Given the description of an element on the screen output the (x, y) to click on. 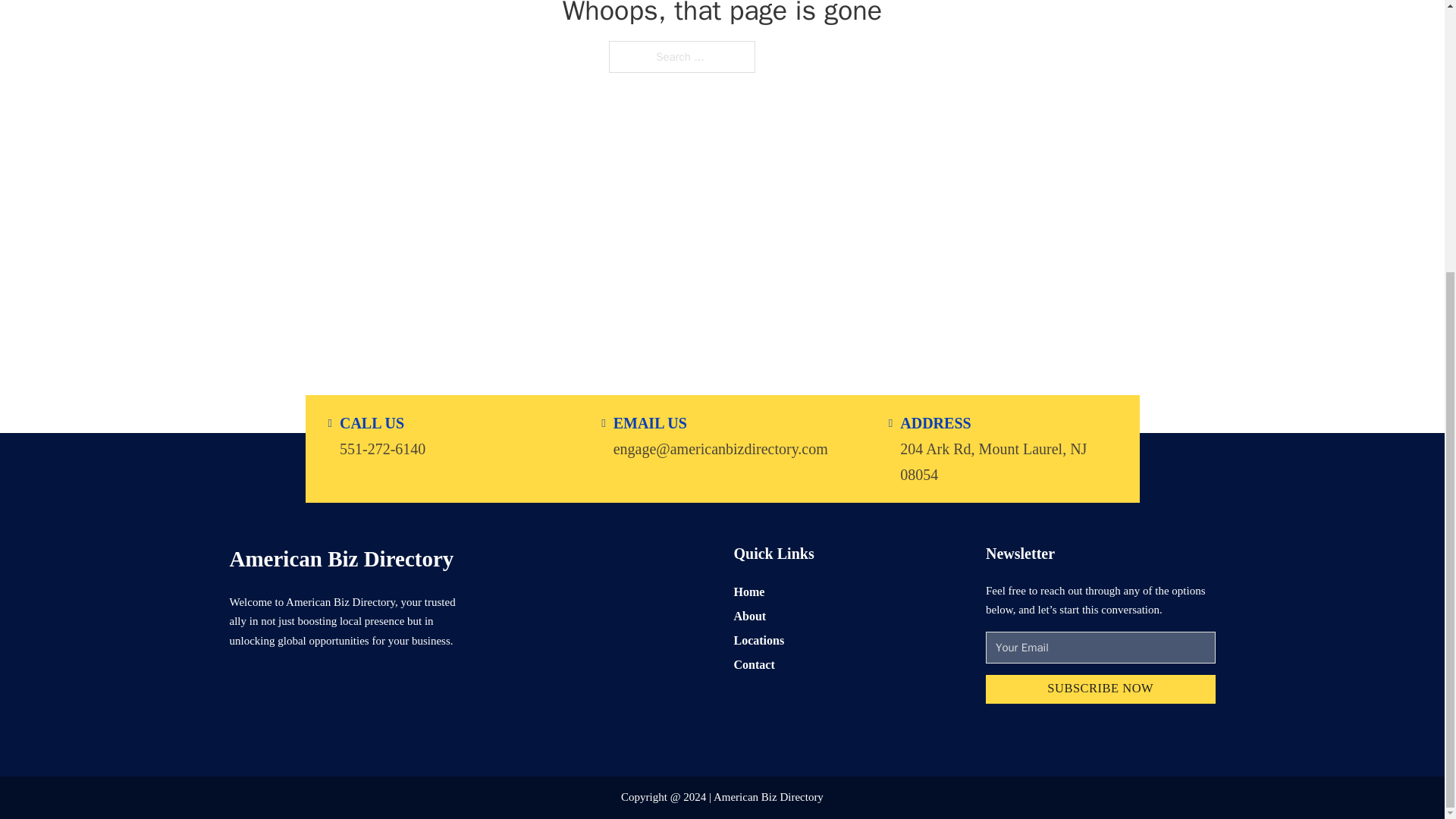
SUBSCRIBE NOW (1100, 689)
American Biz Directory (340, 558)
551-272-6140 (382, 447)
Locations (758, 639)
About (750, 616)
Contact (753, 664)
Home (749, 590)
